Given the description of an element on the screen output the (x, y) to click on. 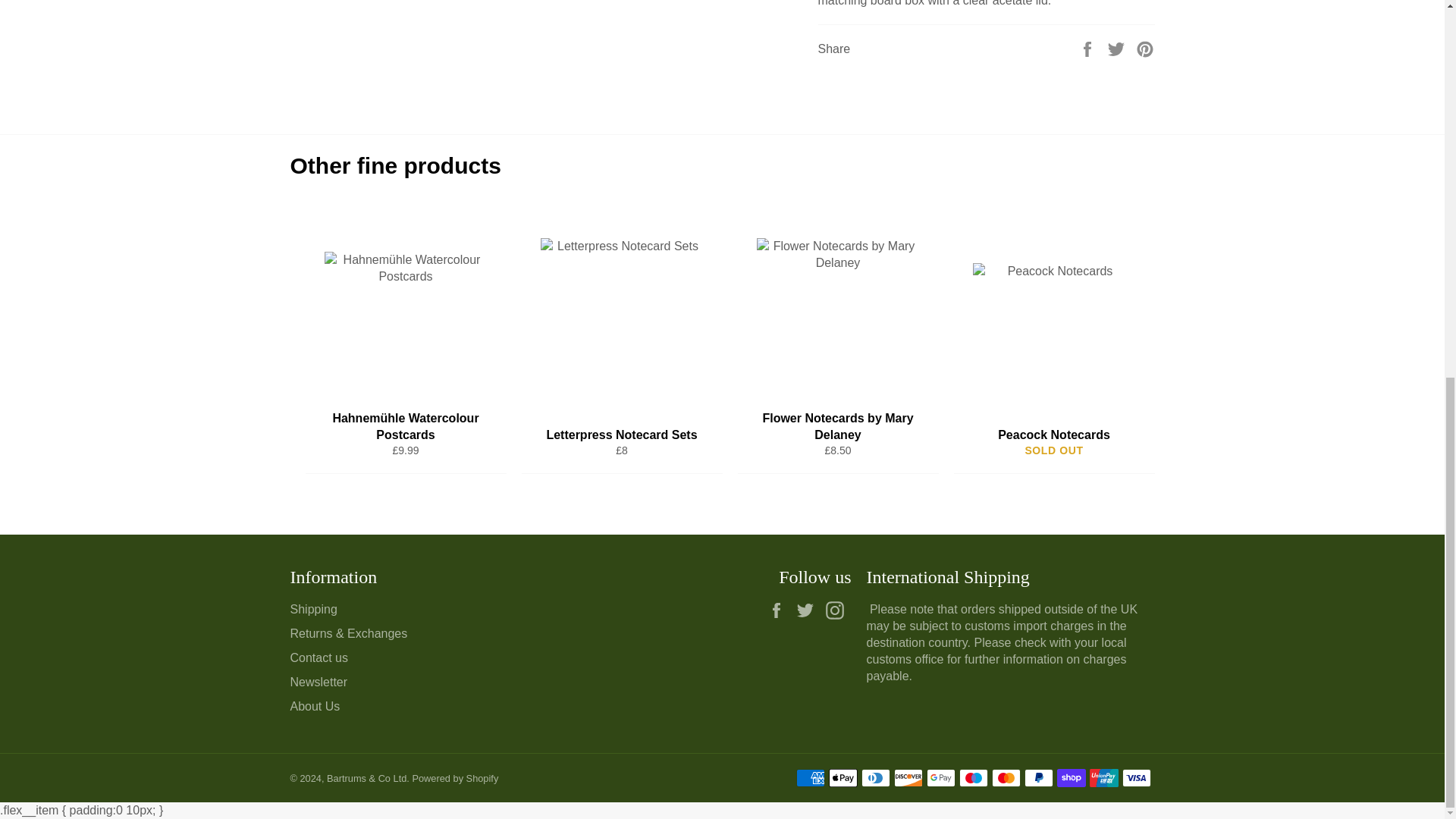
Share on Facebook (1088, 47)
Pin on Pinterest (1144, 47)
Tweet on Twitter (1117, 47)
